Given the description of an element on the screen output the (x, y) to click on. 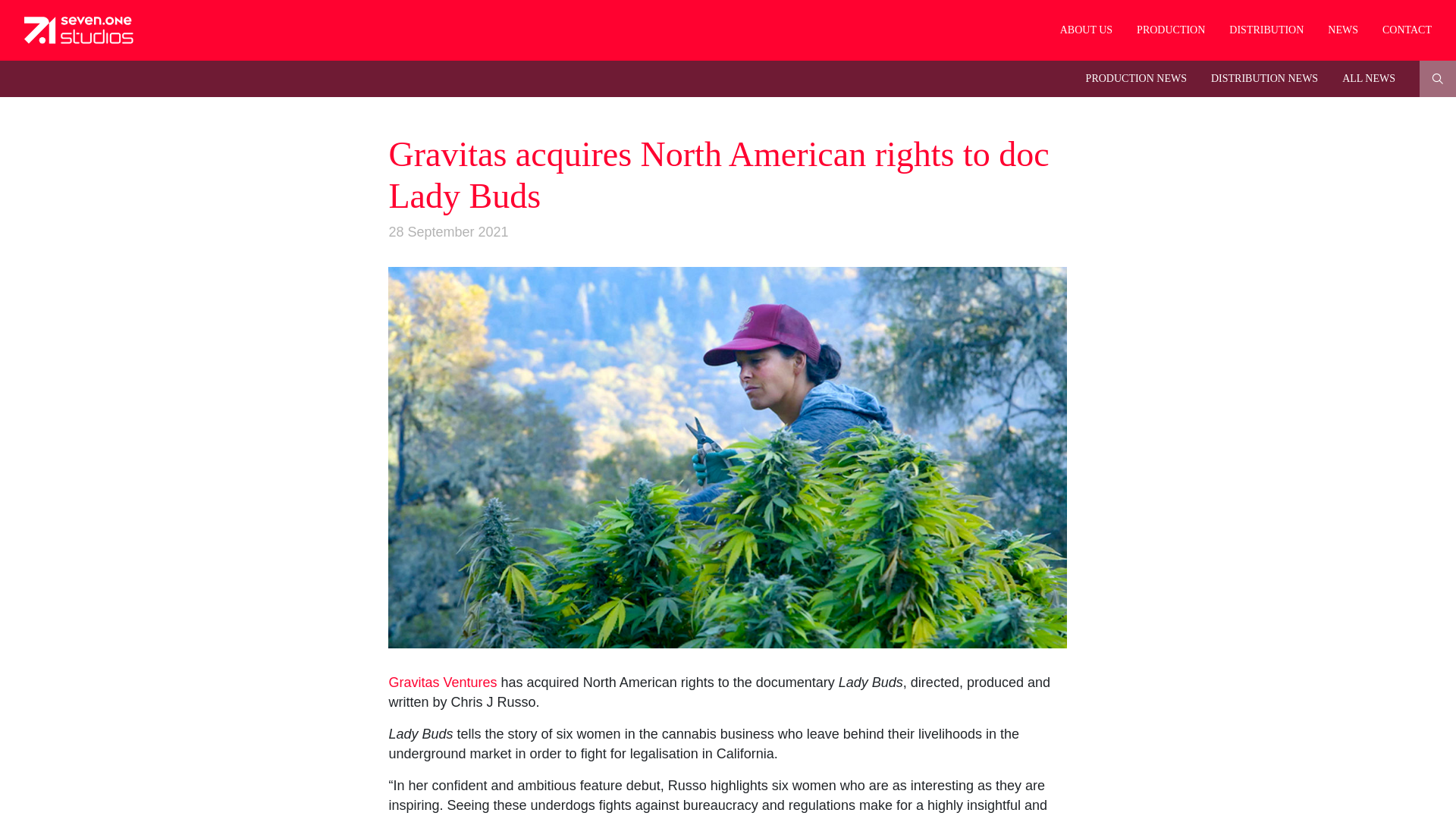
CONTACT (1407, 30)
Gravitas Ventures (442, 682)
PRODUCTION (1170, 30)
DISTRIBUTION (1266, 30)
DISTRIBUTION NEWS (1264, 78)
ALL NEWS (1368, 78)
PRODUCTION NEWS (1136, 78)
NEWS (1343, 30)
ABOUT US (1086, 30)
